Given the description of an element on the screen output the (x, y) to click on. 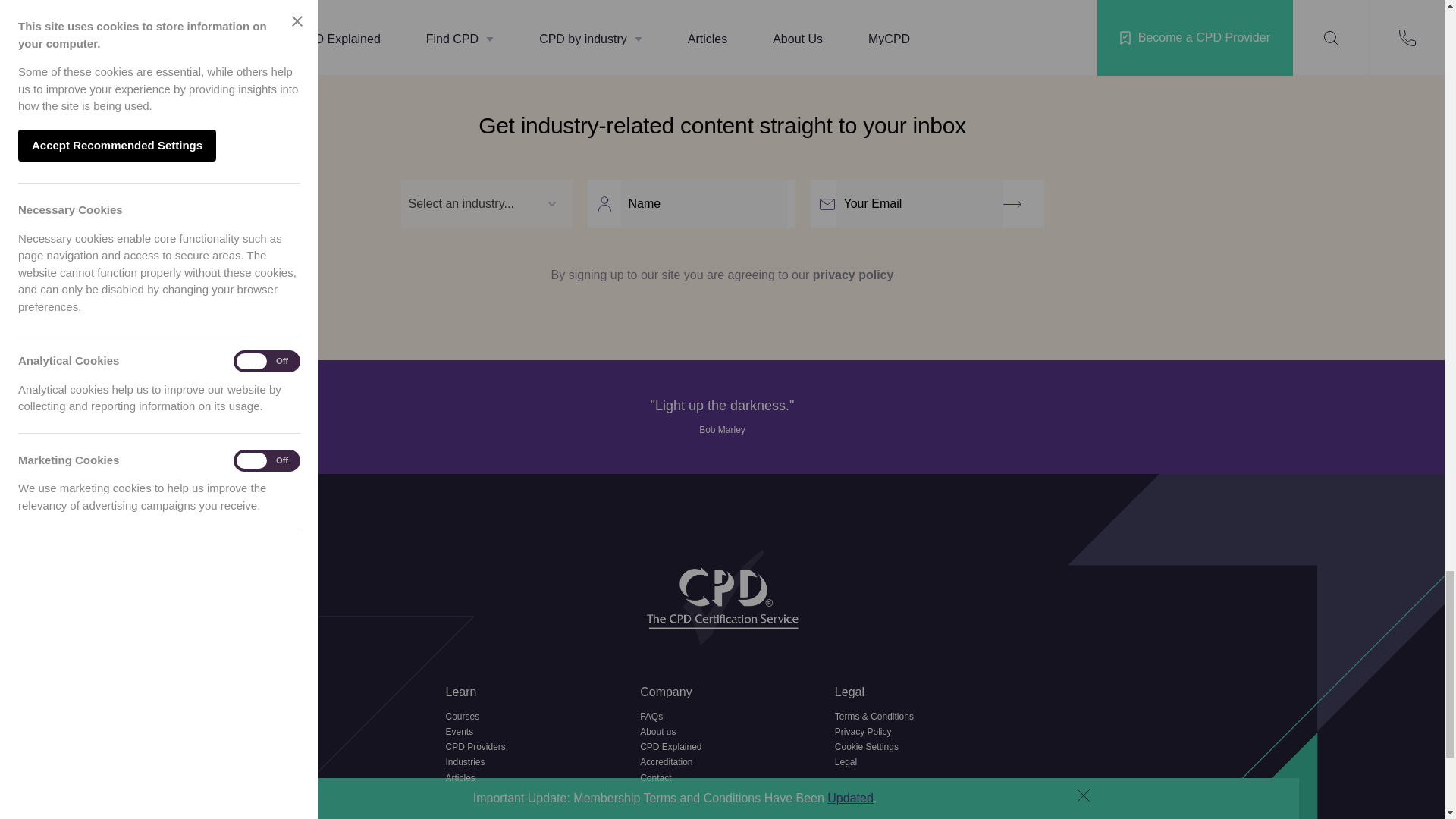
Courses (527, 718)
Submit (1019, 203)
privacy policy (852, 274)
